Given the description of an element on the screen output the (x, y) to click on. 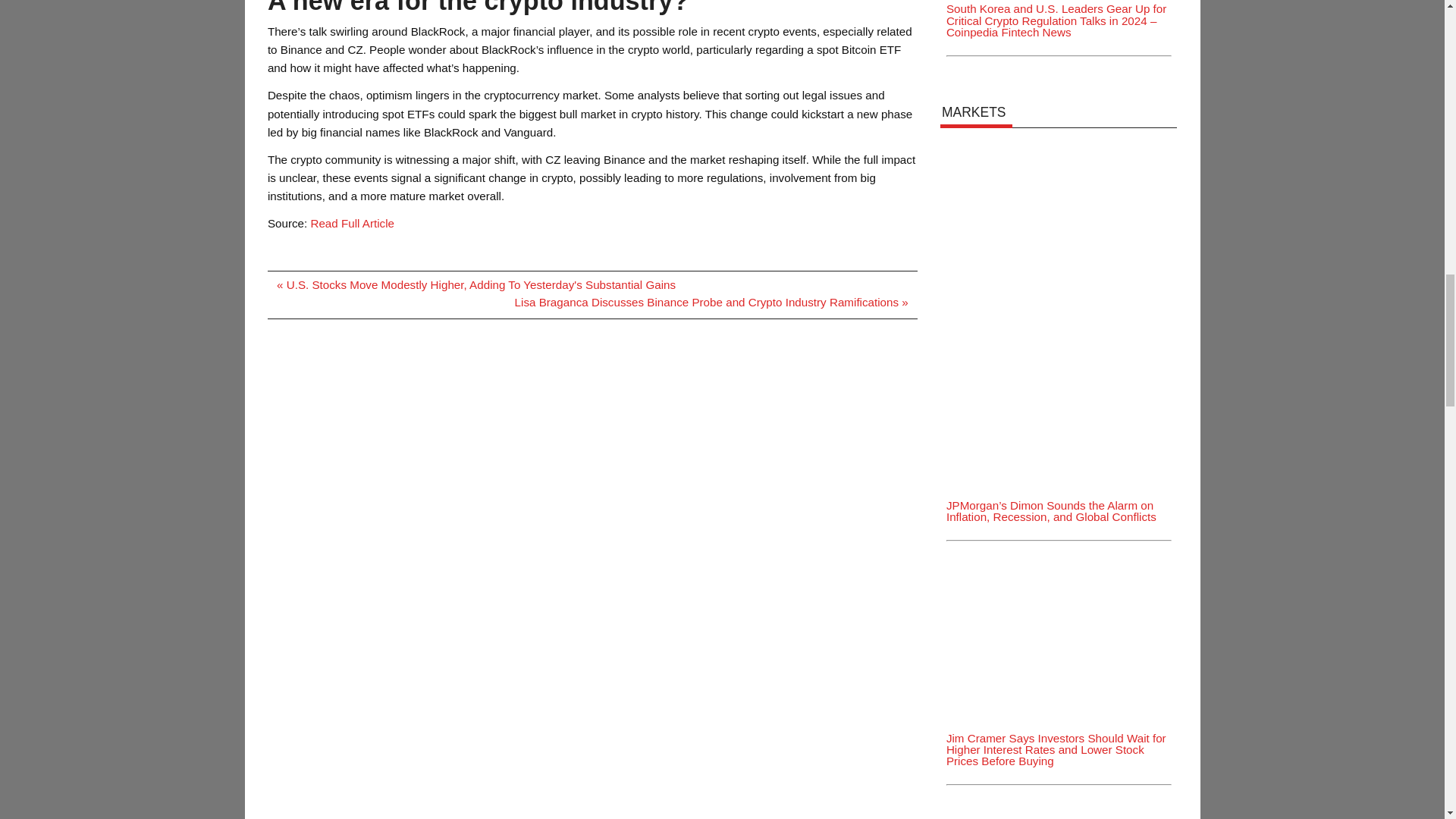
Read Full Article (352, 223)
